Given the description of an element on the screen output the (x, y) to click on. 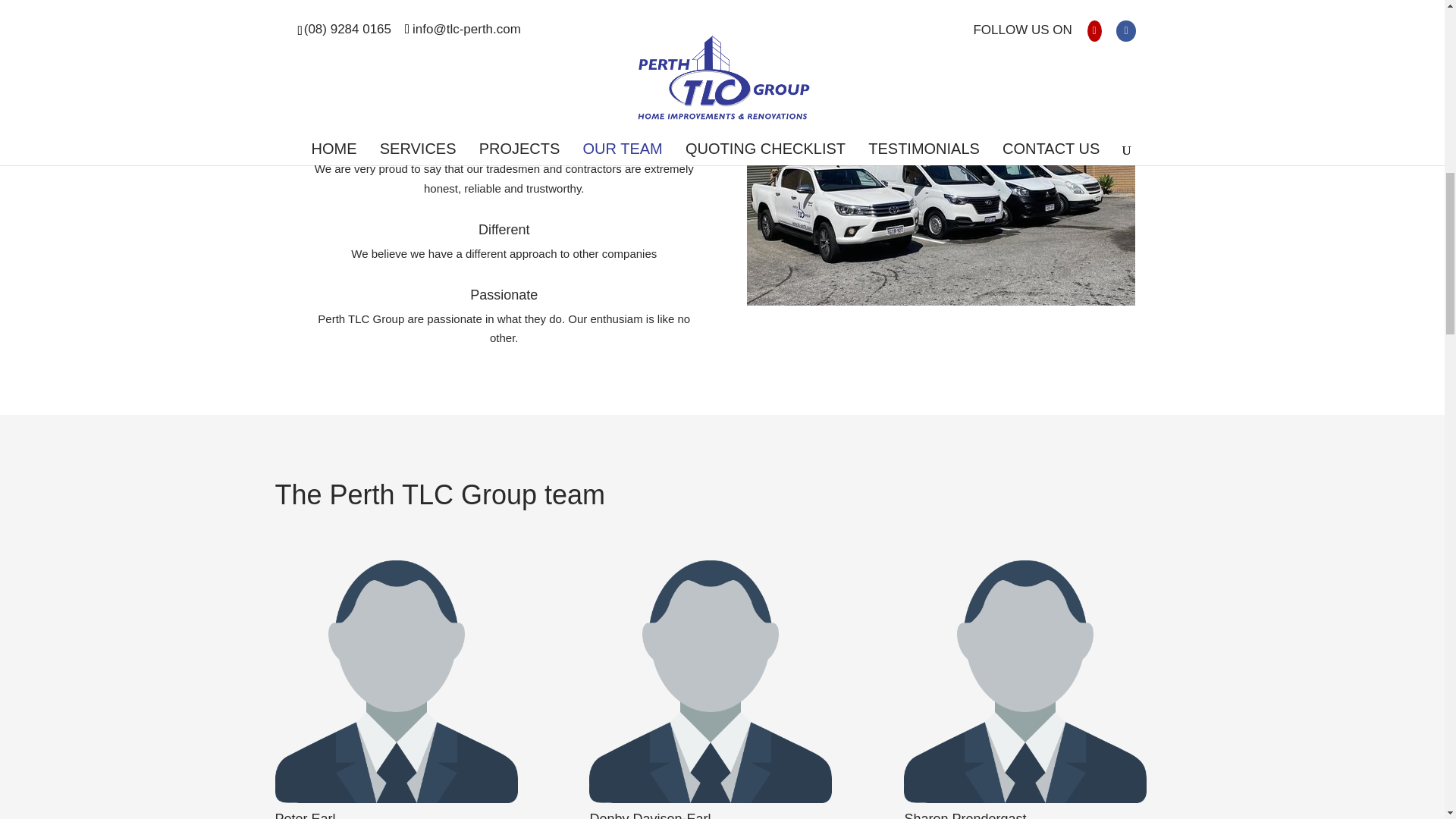
TLCFleet (940, 152)
